Given the description of an element on the screen output the (x, y) to click on. 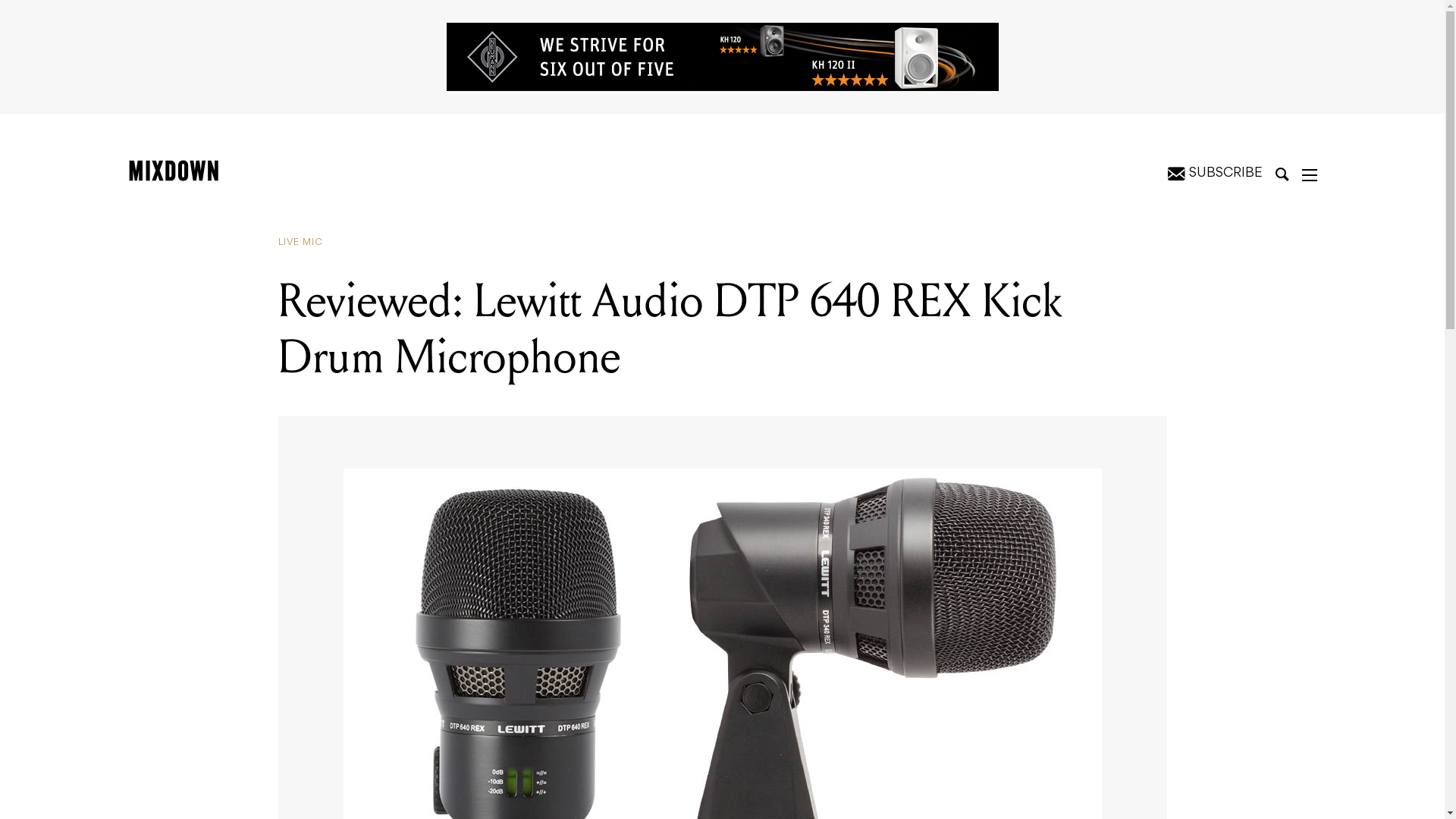
LIVE MIC Element type: text (305, 242)
3rd party ad content Element type: hover (721, 56)
